Given the description of an element on the screen output the (x, y) to click on. 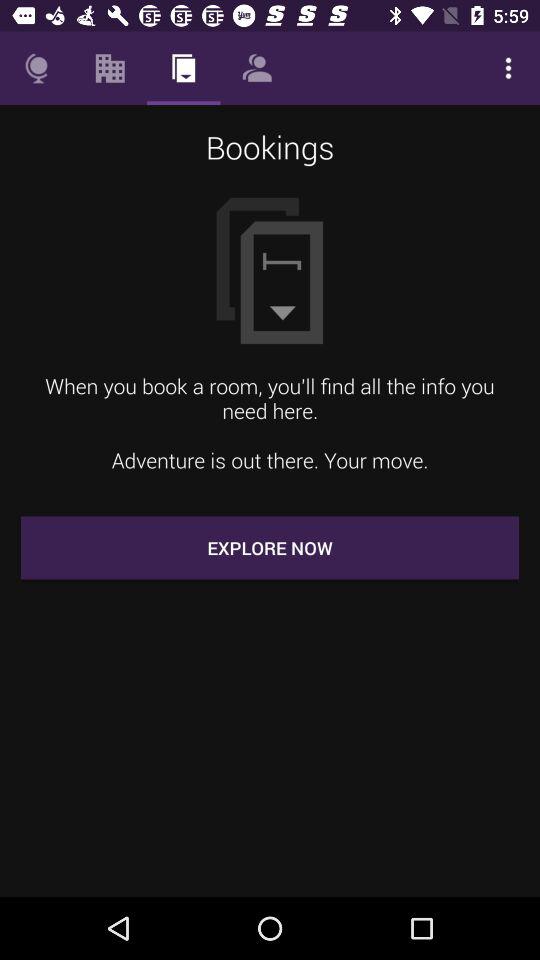
tap item above the bookings icon (508, 67)
